Given the description of an element on the screen output the (x, y) to click on. 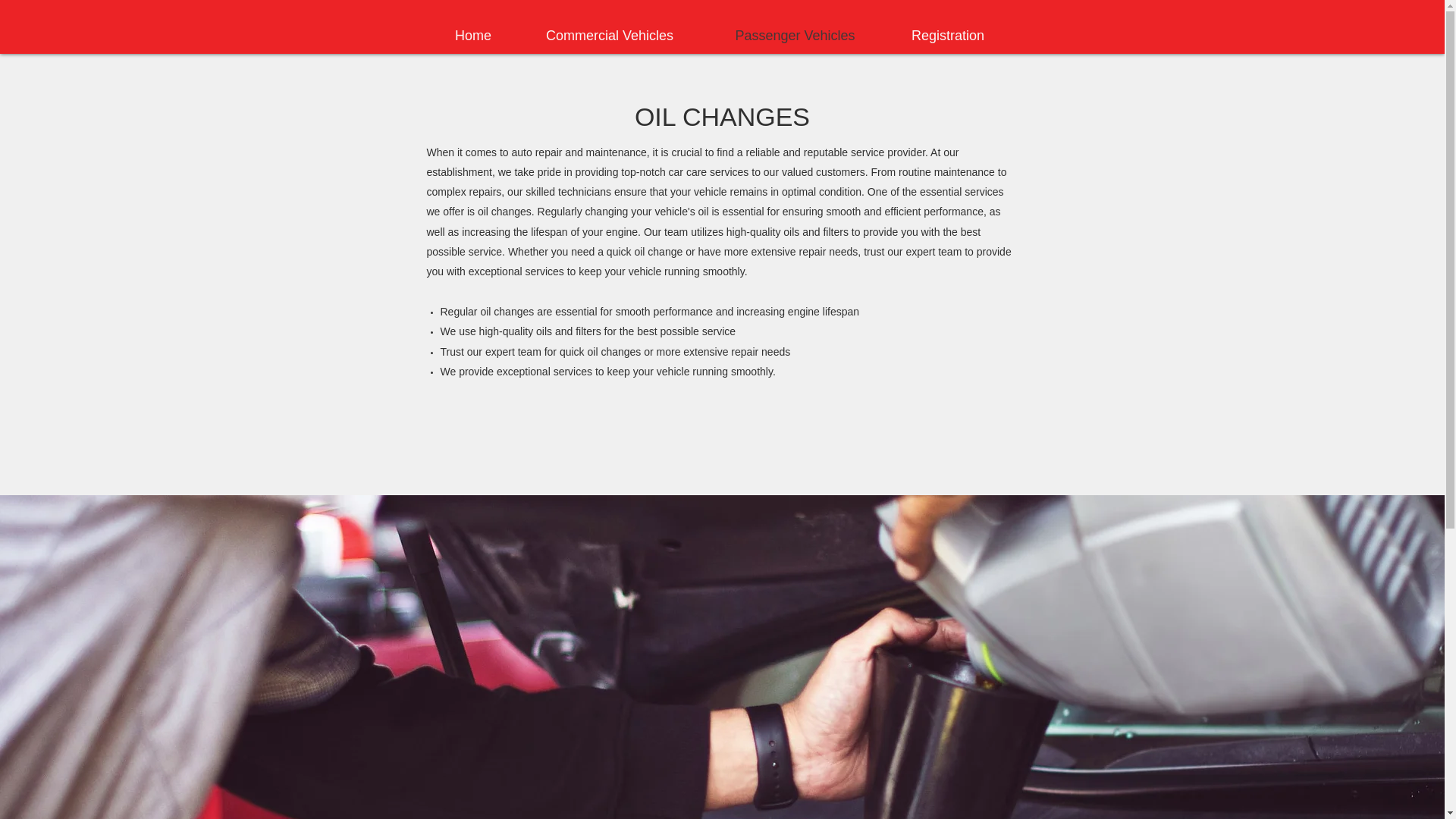
Home (472, 35)
Commercial Vehicles (609, 35)
Registration (946, 35)
Passenger Vehicles (793, 35)
